Given the description of an element on the screen output the (x, y) to click on. 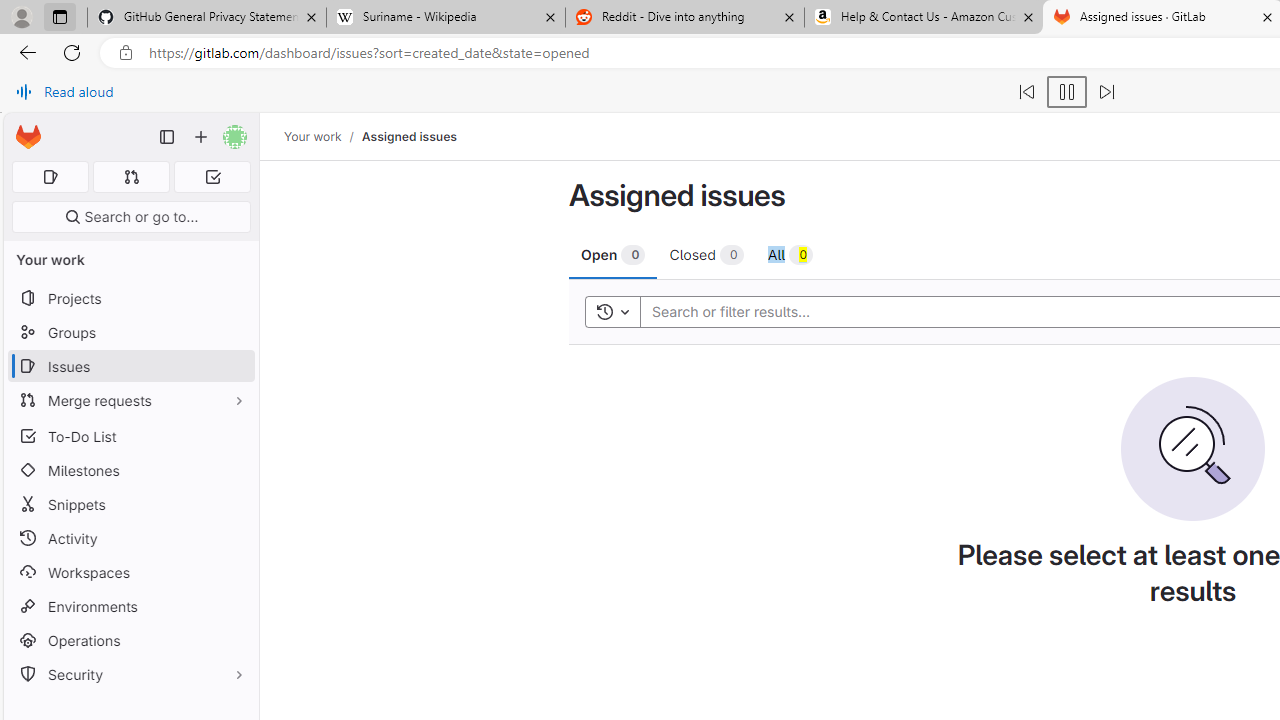
Activity (130, 538)
Groups (130, 332)
All 0 (790, 254)
Operations (130, 640)
Assigned issues 0 (50, 177)
Projects (130, 298)
Suriname - Wikipedia (445, 17)
GitHub General Privacy Statement - GitHub Docs (207, 17)
Your work/ (323, 136)
Operations (130, 640)
Security (130, 674)
Projects (130, 298)
